Given the description of an element on the screen output the (x, y) to click on. 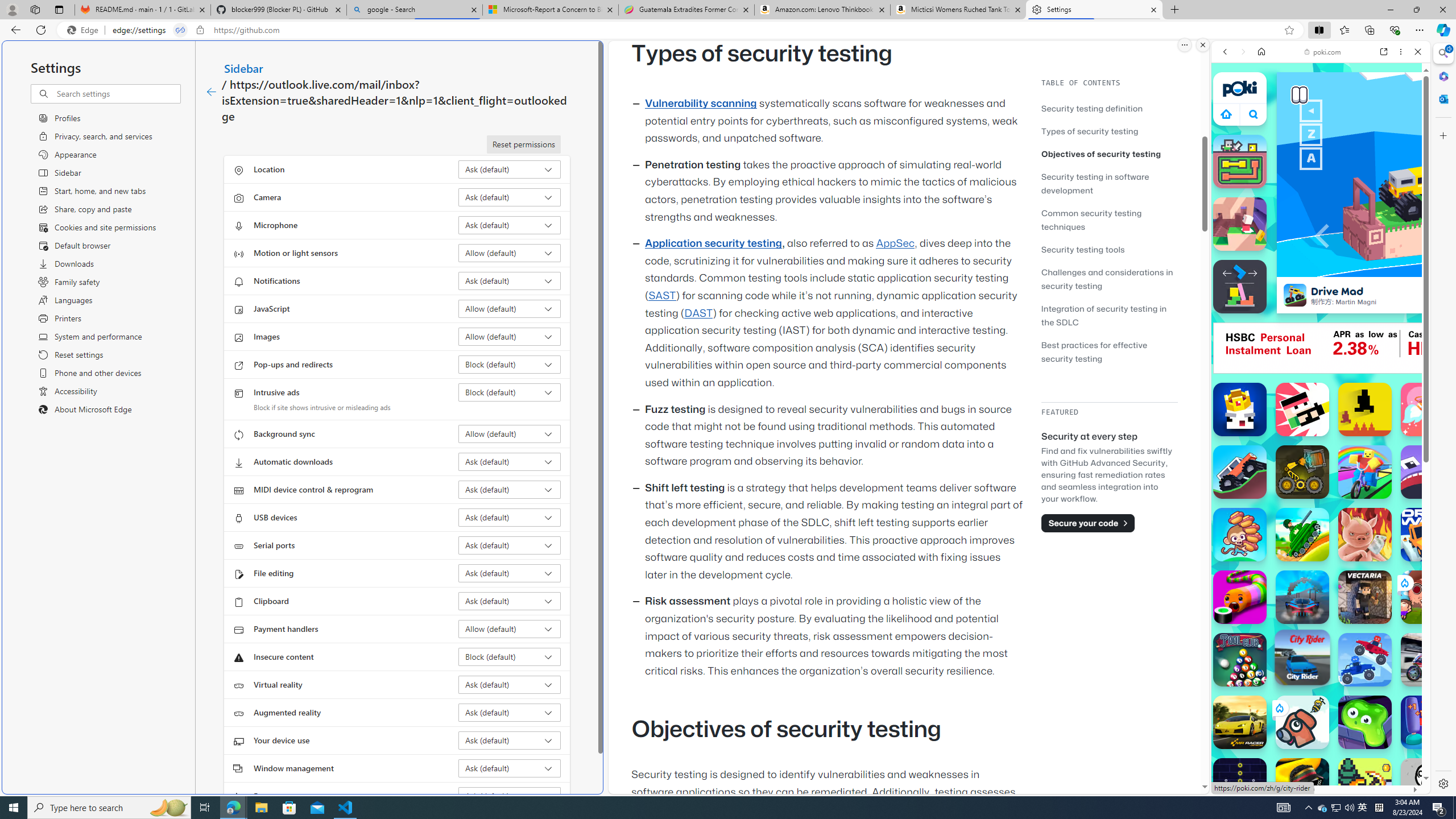
Slime Laboratory (1364, 722)
Shooting Games (1320, 295)
Class: c01182 (210, 91)
Blumgi Rocket Blumgi Rocket (1427, 409)
Io Games (1320, 350)
BoxRob (1302, 471)
Level Devil (1364, 409)
Types of security testing (1089, 130)
Integration of security testing in the SDLC (1104, 314)
Super Bike the Champion (1427, 659)
